Given the description of an element on the screen output the (x, y) to click on. 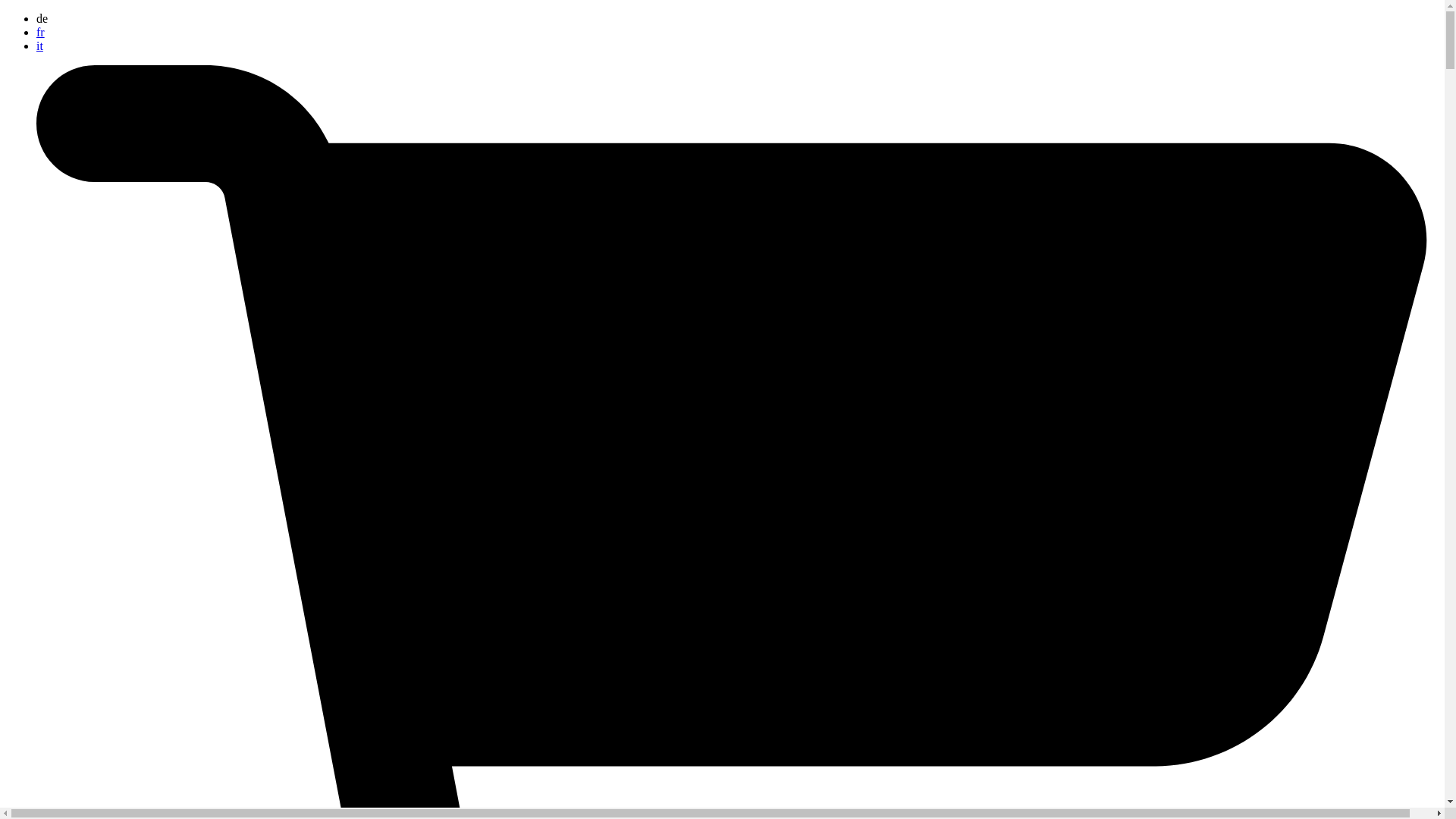
it Element type: text (39, 45)
fr Element type: text (40, 31)
